Given the description of an element on the screen output the (x, y) to click on. 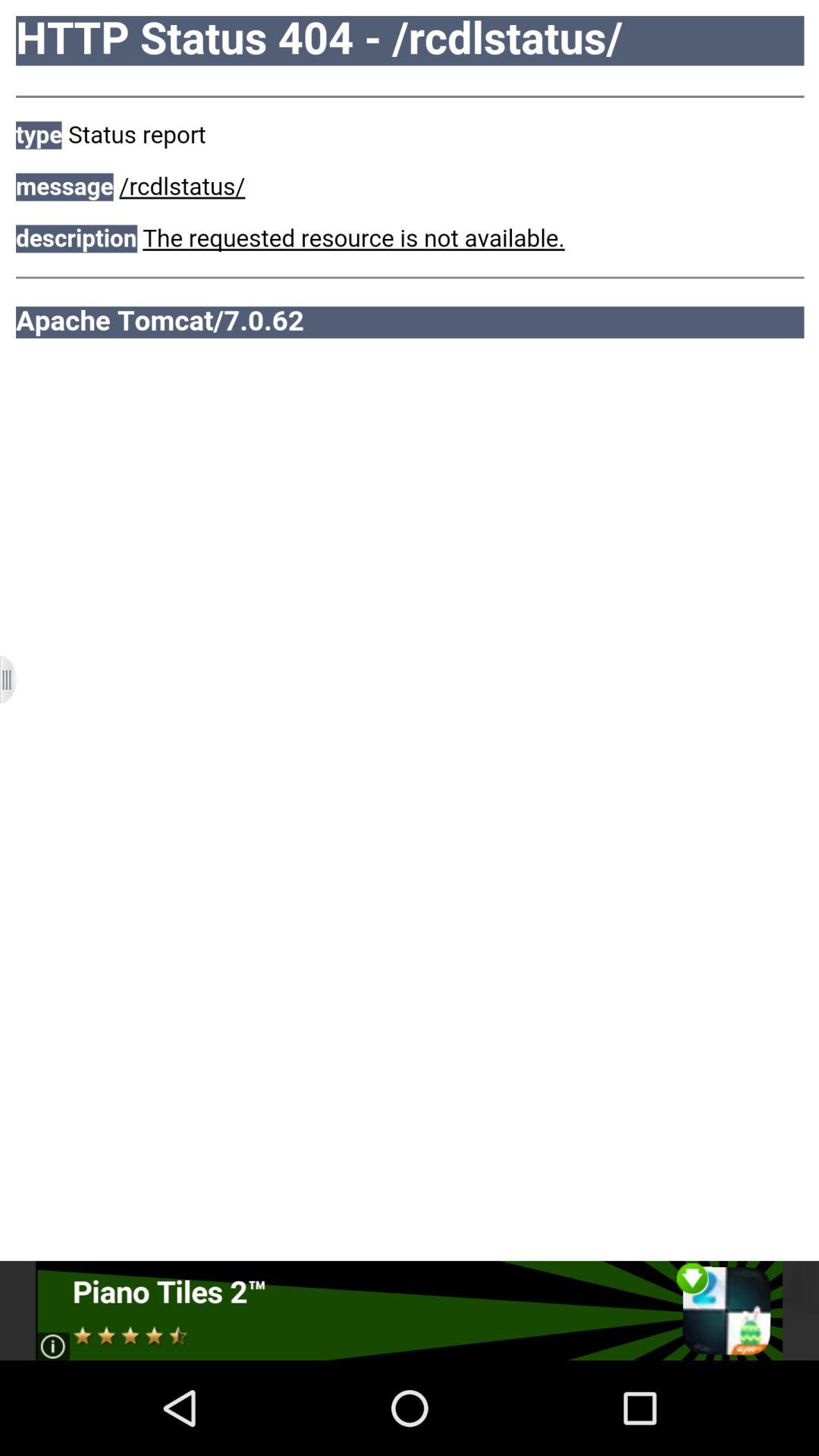
important to know (408, 1310)
